Given the description of an element on the screen output the (x, y) to click on. 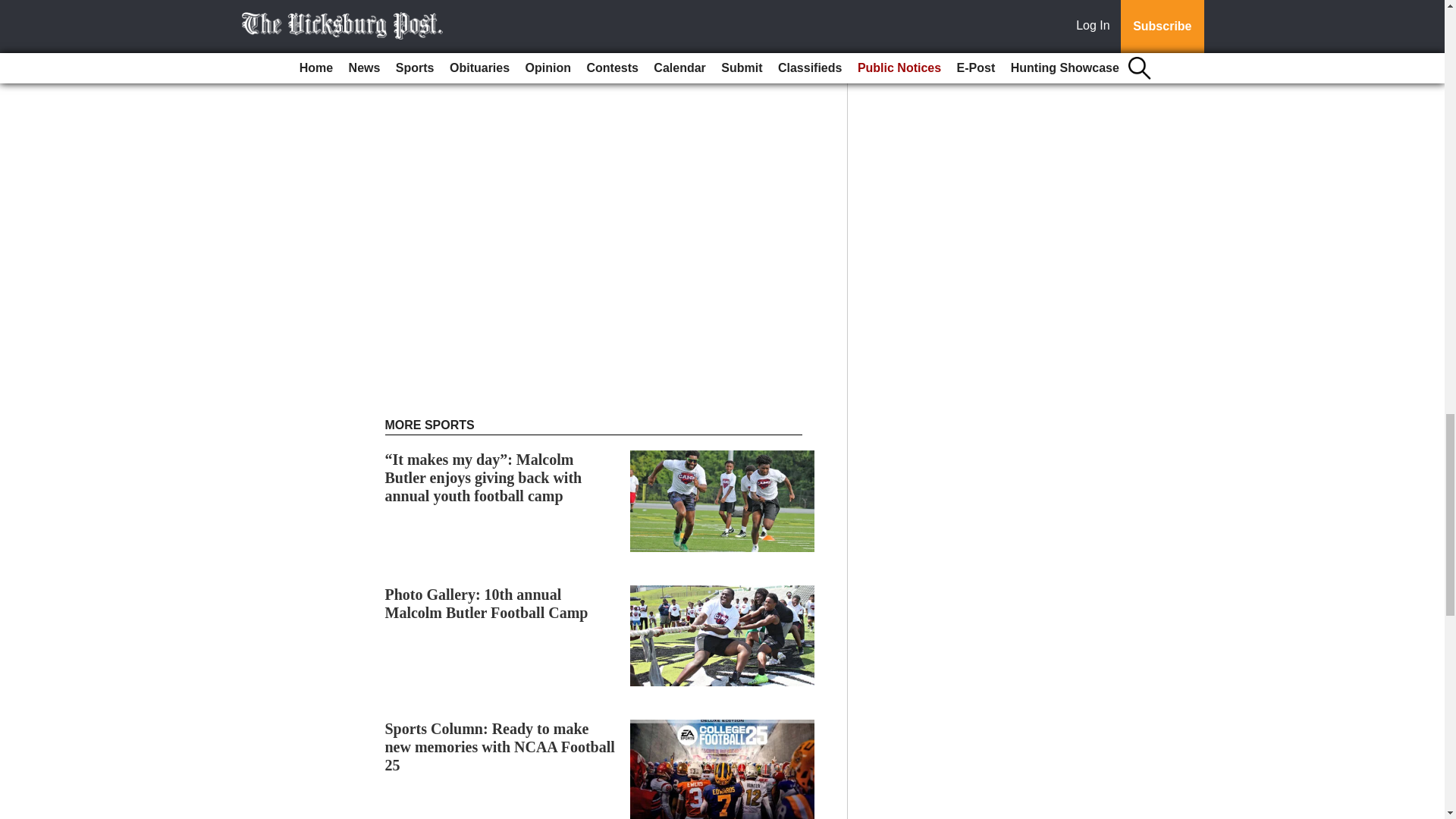
Photo Gallery: 10th annual Malcolm Butler Football Camp (486, 603)
Photo Gallery: 10th annual Malcolm Butler Football Camp (486, 603)
